Given the description of an element on the screen output the (x, y) to click on. 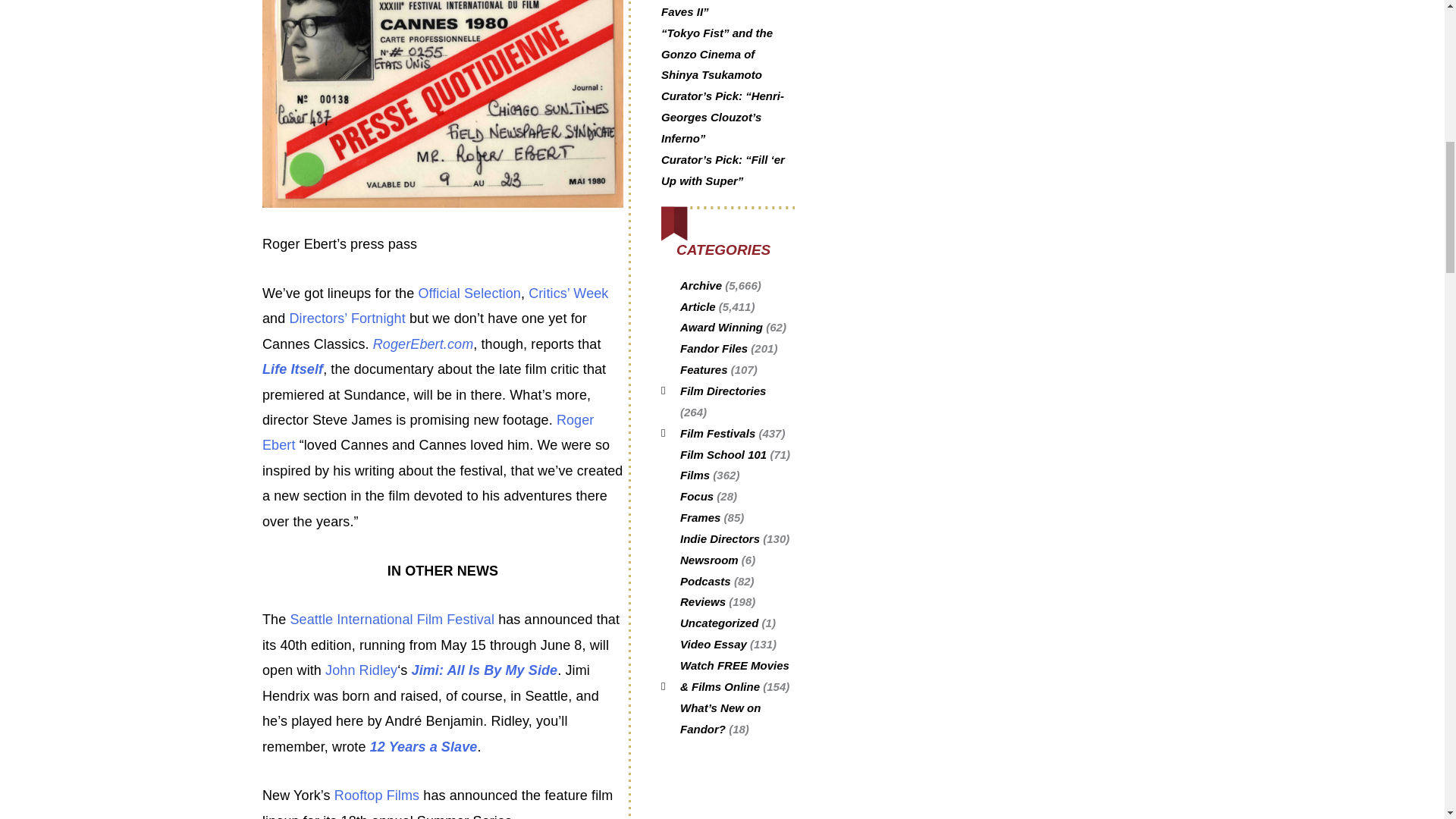
Official Selection (469, 293)
John Ridley (360, 670)
RogerEbert.com (422, 344)
Roger Ebert (428, 432)
Life Itself (292, 368)
Rooftop Films (376, 795)
Seattle International Film Festival (392, 619)
12 Years a Slave (423, 746)
Jimi: All Is By My Side (484, 670)
